Given the description of an element on the screen output the (x, y) to click on. 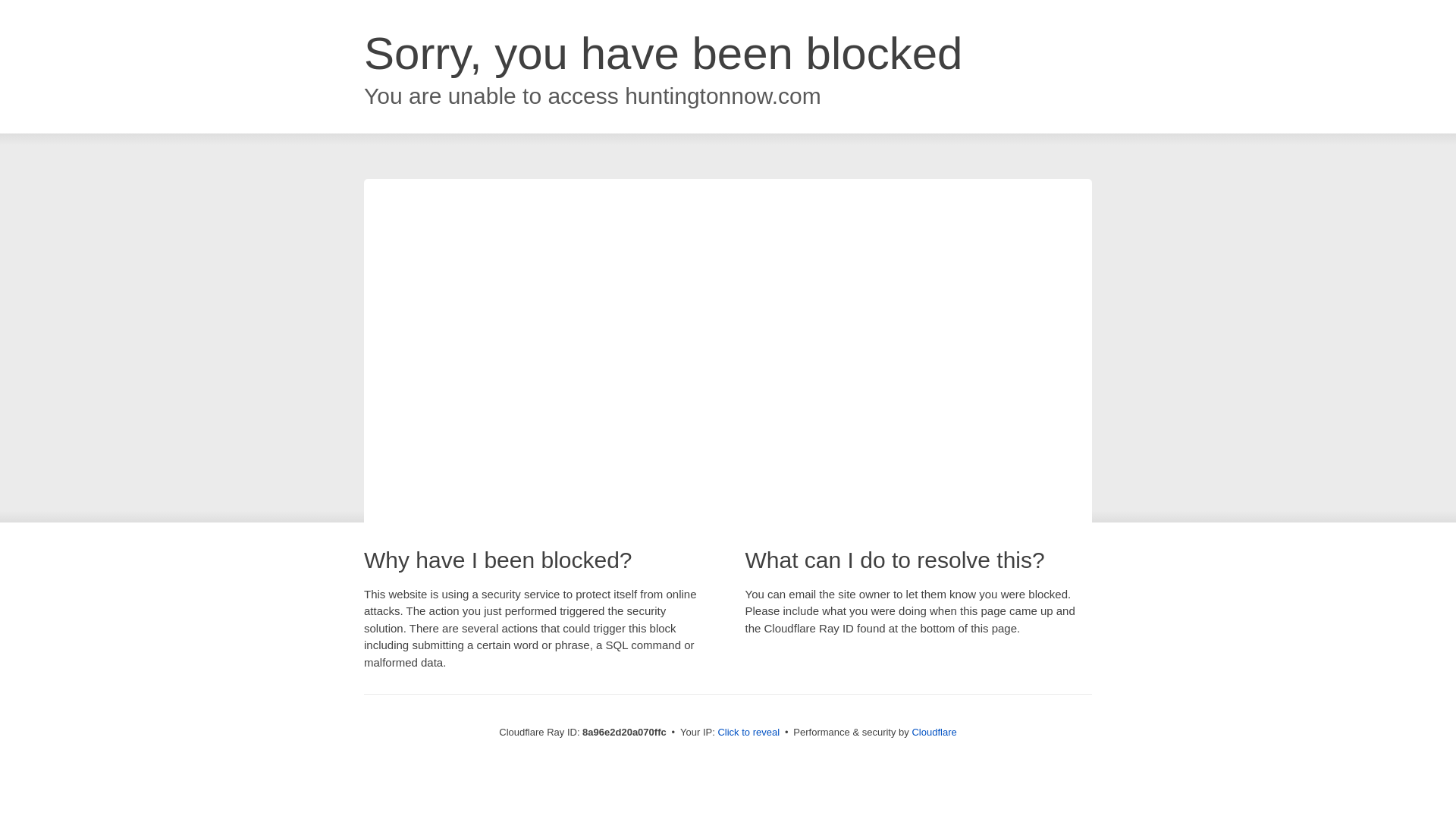
Click to reveal (747, 732)
Cloudflare (933, 731)
